Given the description of an element on the screen output the (x, y) to click on. 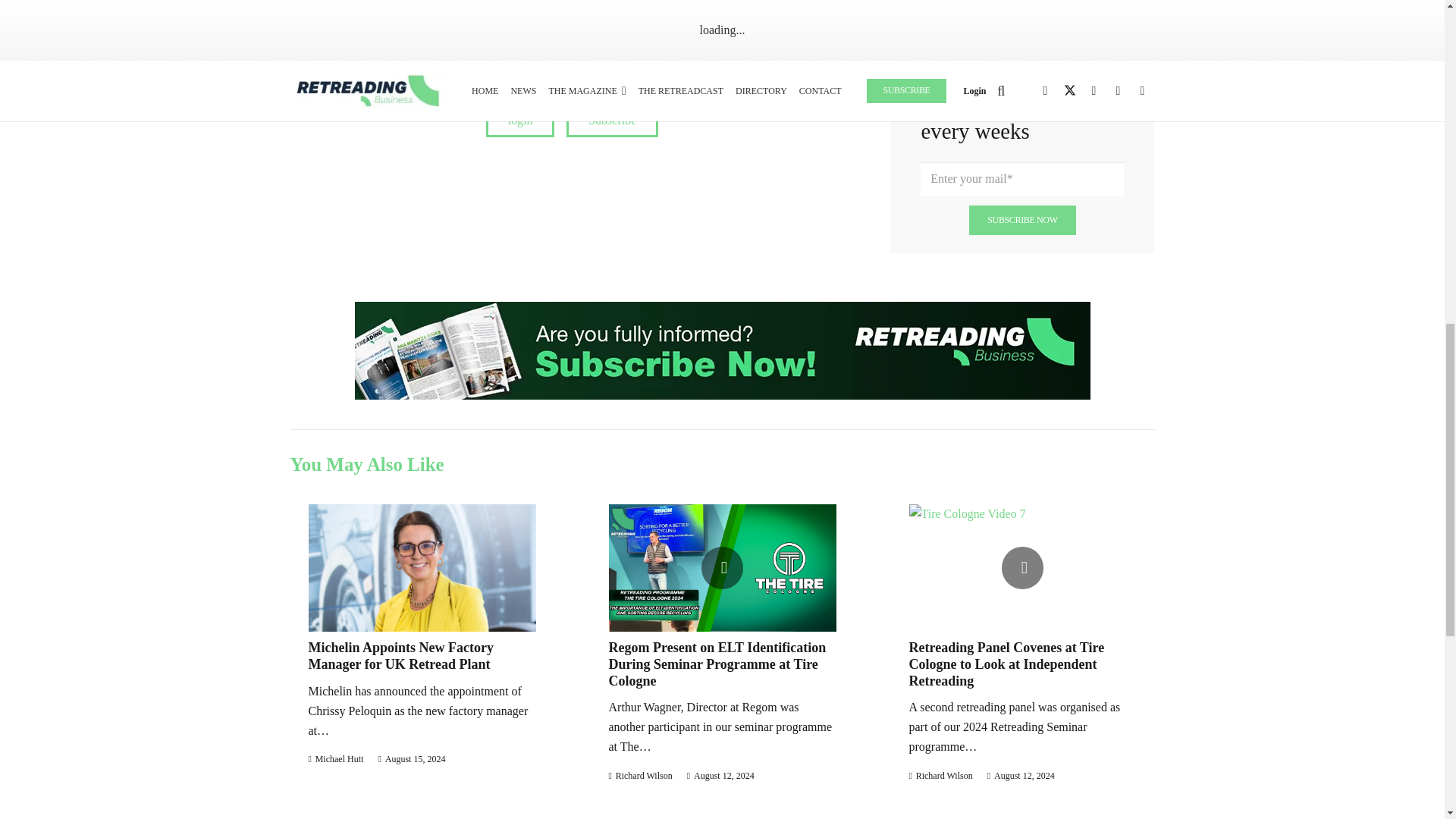
Subscribe (612, 120)
Back to top (1414, 12)
login (520, 120)
Subscribe Now (1023, 220)
Subscribe Now (1023, 220)
